Given the description of an element on the screen output the (x, y) to click on. 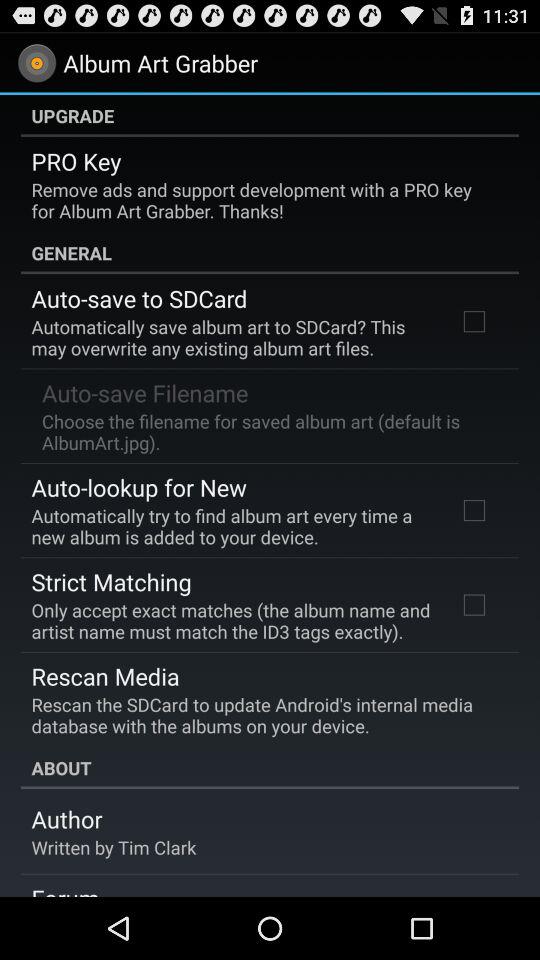
turn off item below the automatically try to icon (111, 581)
